Given the description of an element on the screen output the (x, y) to click on. 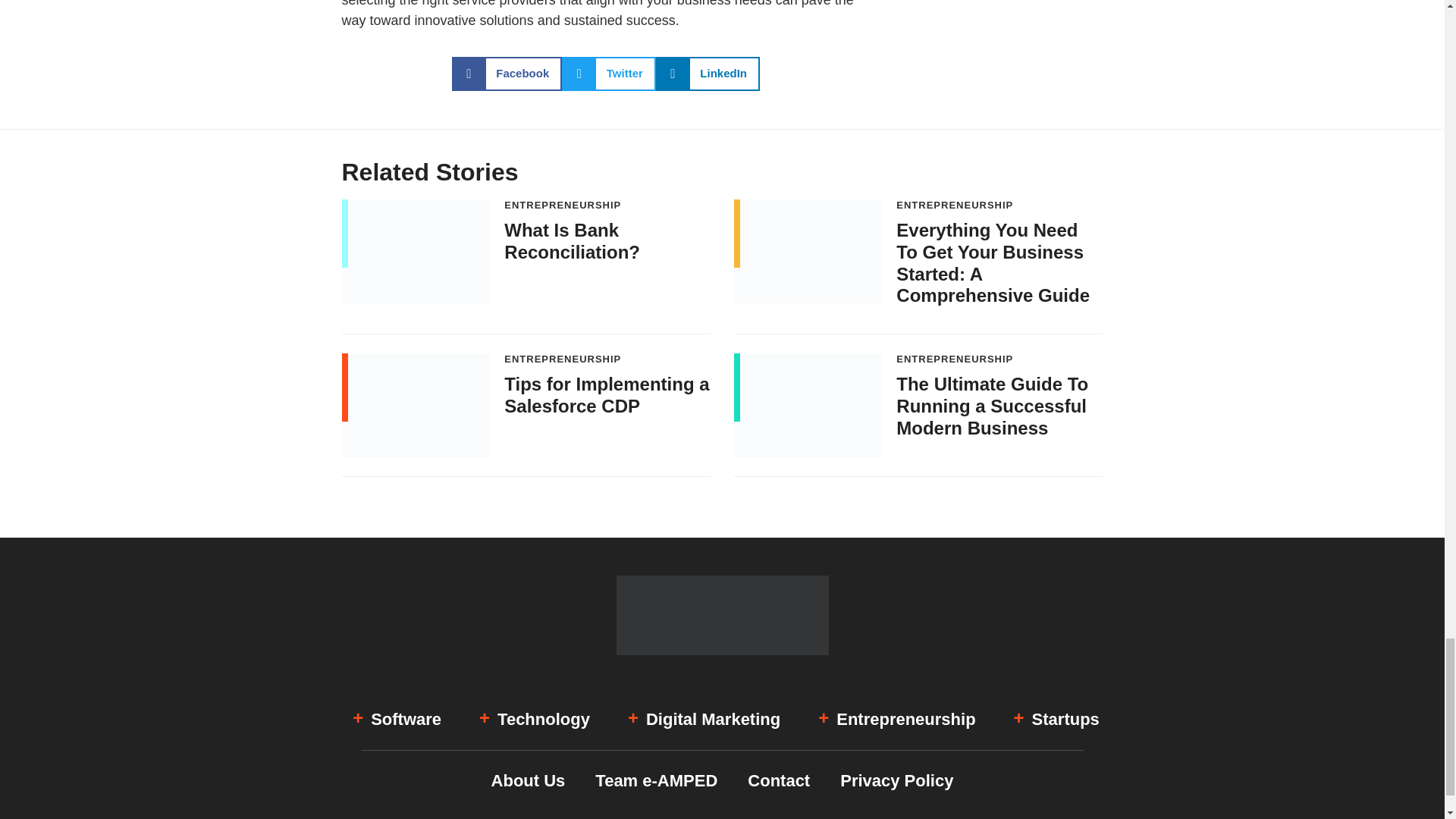
ENTREPRENEURSHIP (562, 204)
What Is Bank Reconciliation? (571, 241)
